Given the description of an element on the screen output the (x, y) to click on. 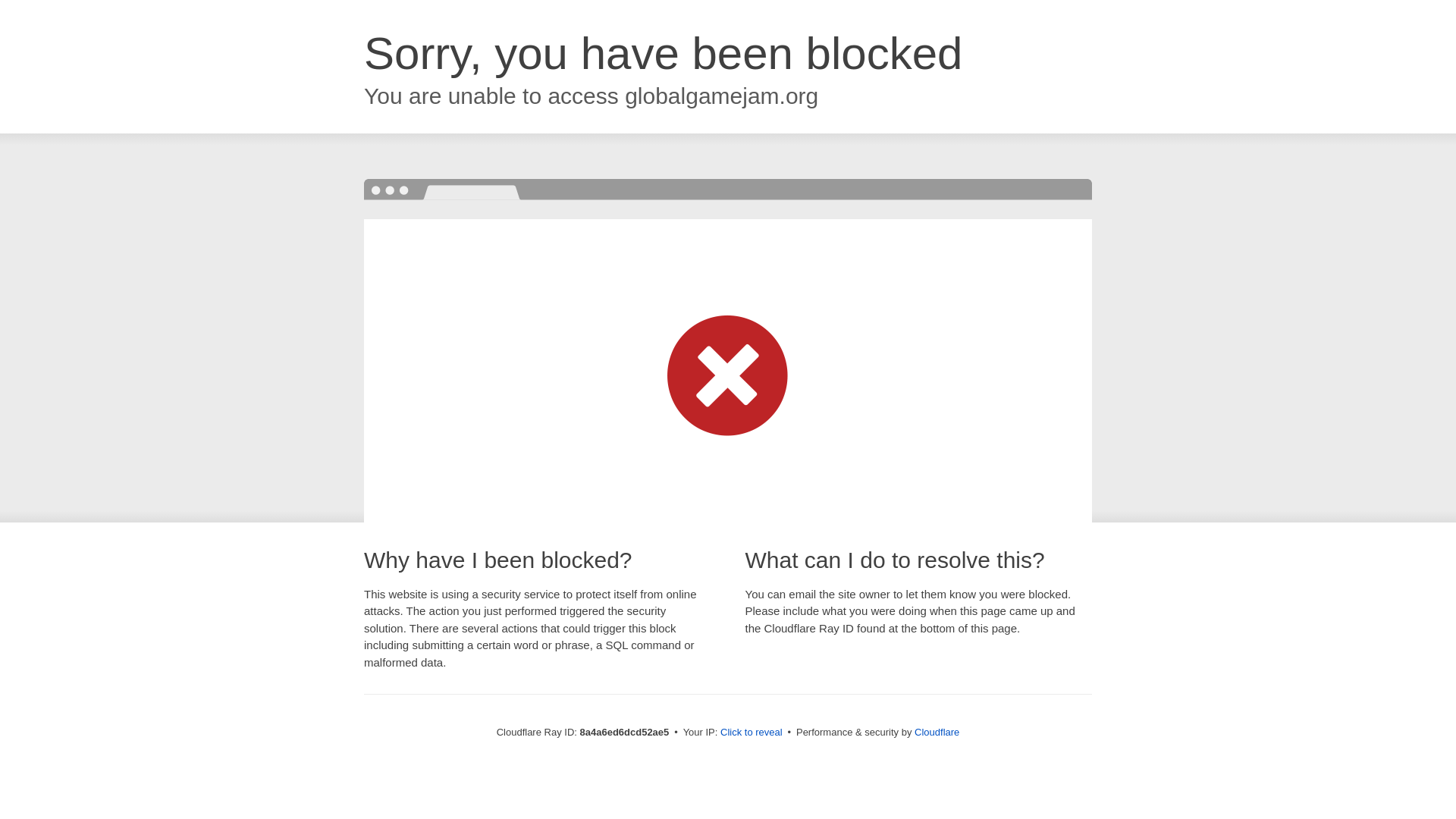
Cloudflare (936, 731)
Click to reveal (751, 732)
